Given the description of an element on the screen output the (x, y) to click on. 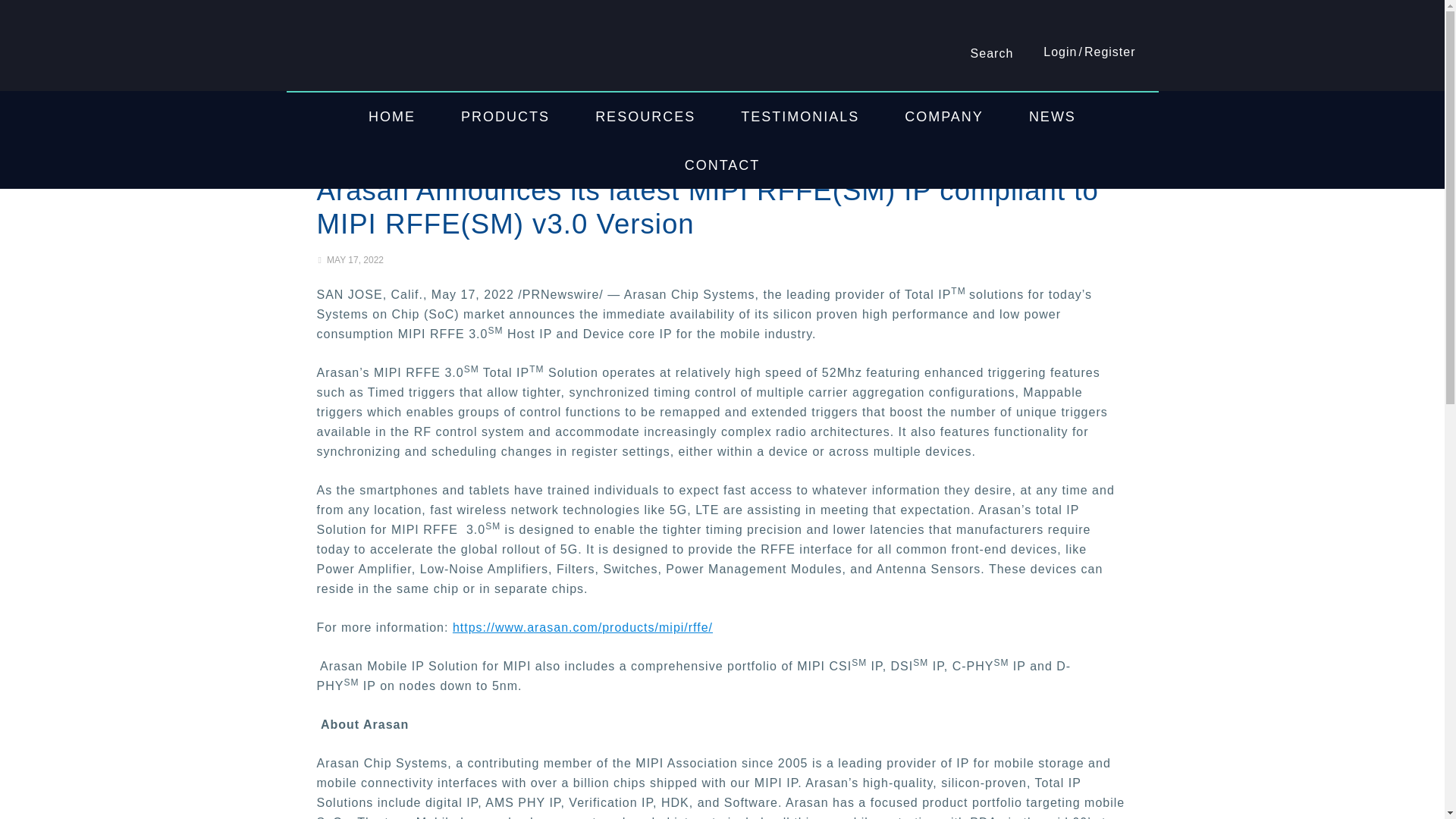
Login (1052, 49)
Register (1117, 49)
Arasan Chip Systems (384, 39)
PRODUCTS (505, 116)
TESTIMONIALS (799, 116)
RESOURCES (644, 116)
CONTACT (722, 164)
NEWS (1052, 116)
COMPANY (944, 116)
HOME (392, 116)
